Given the description of an element on the screen output the (x, y) to click on. 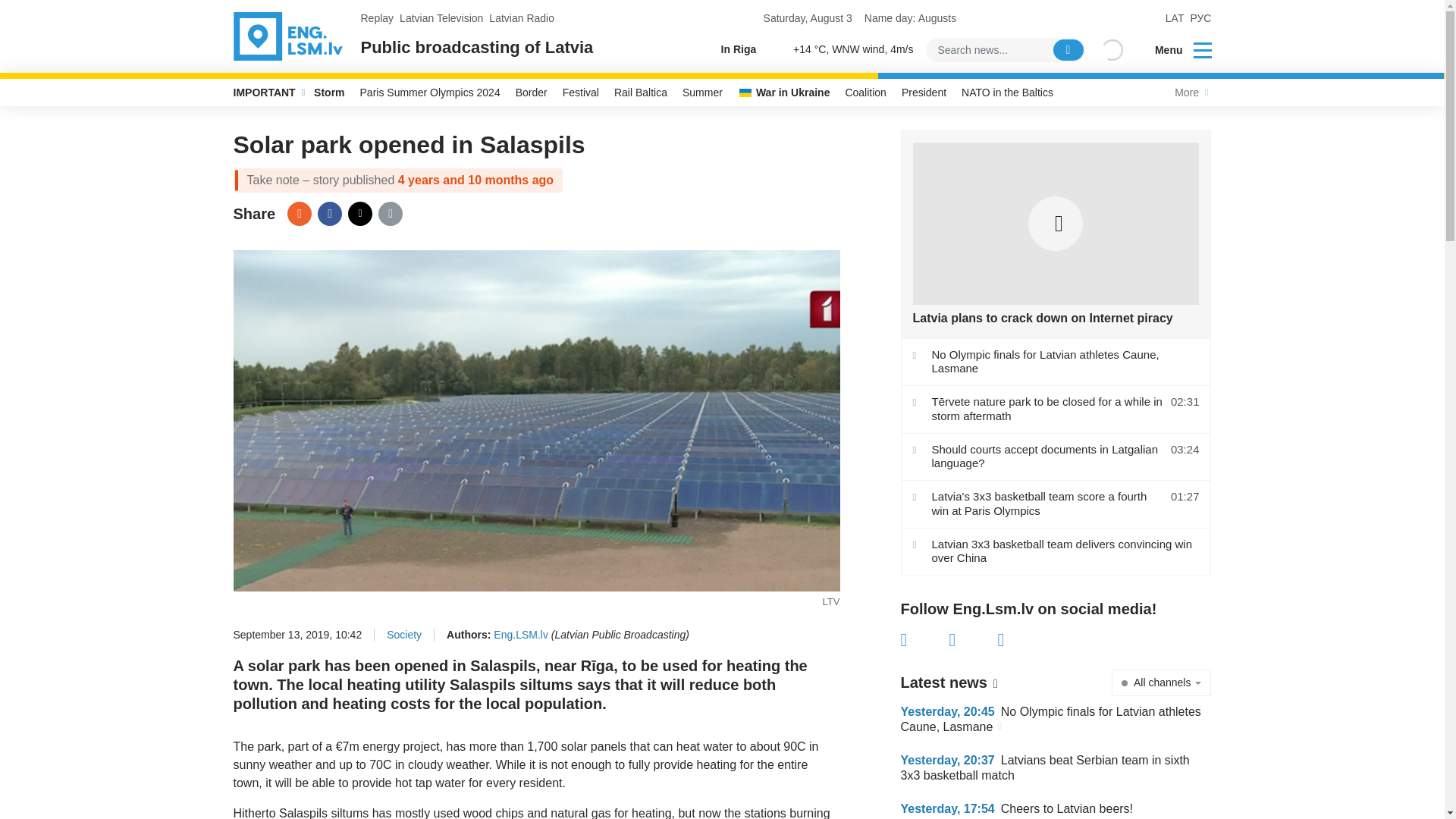
Latvian Television (440, 18)
Border (531, 92)
Draugiem (298, 213)
Rail Baltica (641, 92)
War in Ukraine (784, 92)
Storm (328, 92)
President (923, 92)
Facebook (925, 639)
Paris Summer Olympics 2024 (430, 92)
Latvian Radio (521, 18)
